Given the description of an element on the screen output the (x, y) to click on. 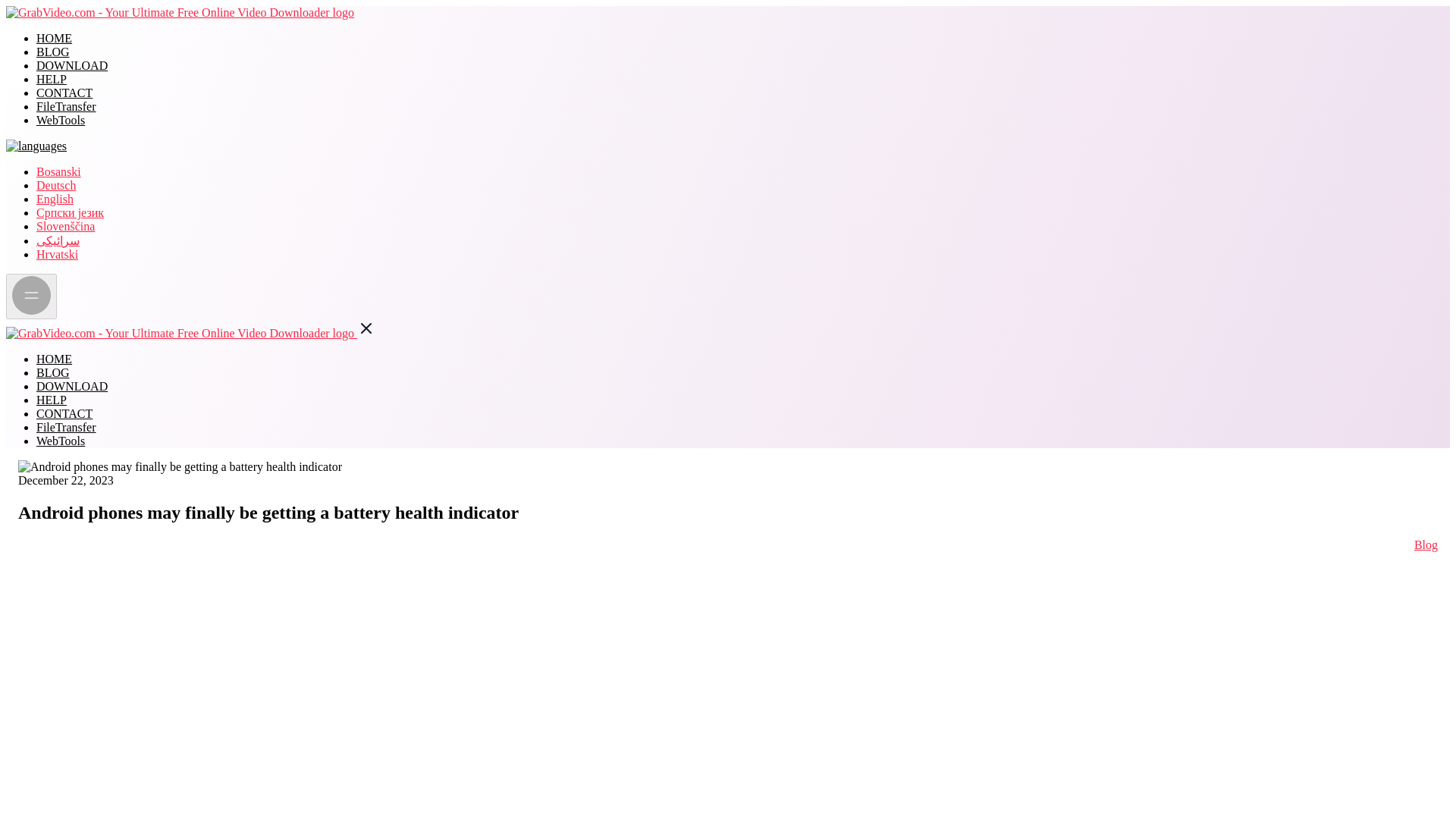
CONTACT (64, 92)
DOWNLOAD (71, 65)
Deutsch (55, 185)
BLOG (52, 51)
HELP (51, 78)
English (55, 198)
HELP (51, 399)
BLOG (52, 372)
Hrvatski (57, 254)
CONTACT (64, 413)
WebTools (60, 440)
WebTools (60, 119)
Bosanski (58, 171)
HOME (53, 38)
DOWNLOAD (71, 386)
